Given the description of an element on the screen output the (x, y) to click on. 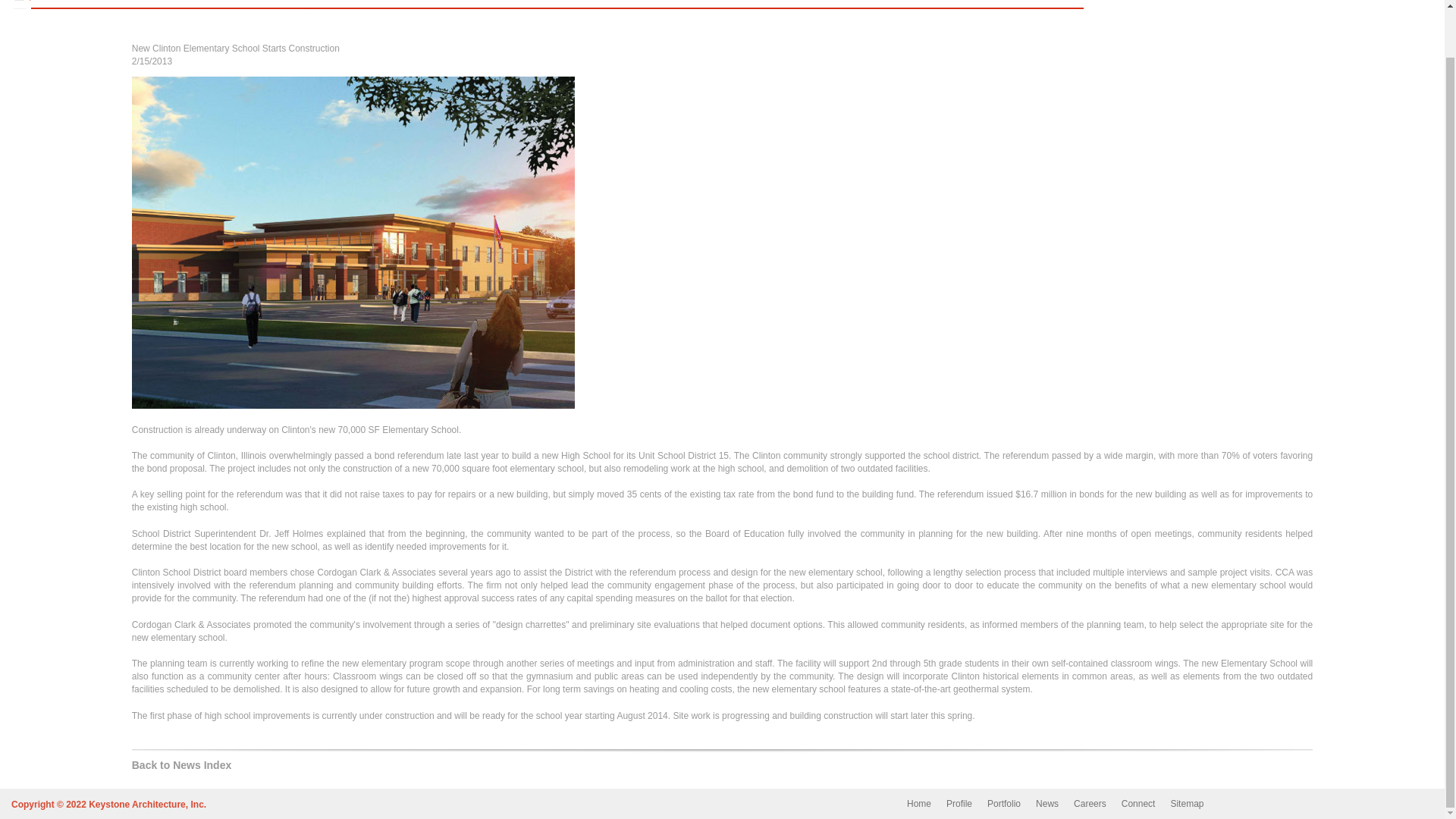
careers (782, 3)
Sitemap (1187, 803)
news (637, 3)
portfolio (560, 3)
insights (706, 3)
Profile (959, 803)
Home (919, 803)
home (405, 3)
connect (857, 3)
profile (477, 3)
